Given the description of an element on the screen output the (x, y) to click on. 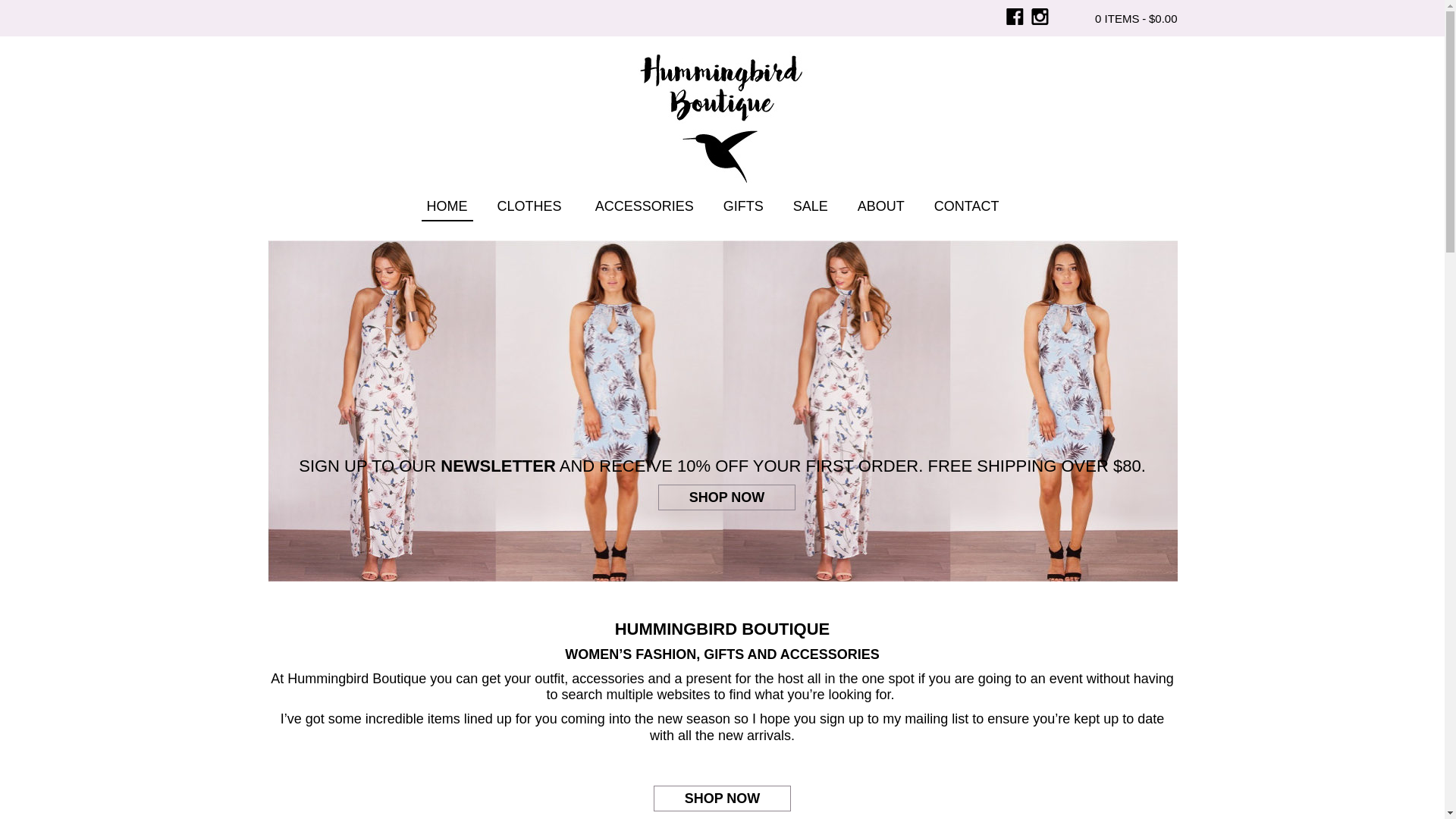
HOME Element type: text (447, 209)
ACCESSORIES Element type: text (644, 209)
CONTACT Element type: text (966, 209)
SALE Element type: text (810, 209)
NEWSLETTER Element type: text (497, 465)
GIFTS Element type: text (743, 209)
ABOUT Element type: text (881, 209)
CLOTHES Element type: text (531, 209)
SHOP NOW Element type: text (722, 798)
SHOP NOW Element type: text (727, 497)
0 ITEMS$0.00 Element type: text (1122, 18)
